Given the description of an element on the screen output the (x, y) to click on. 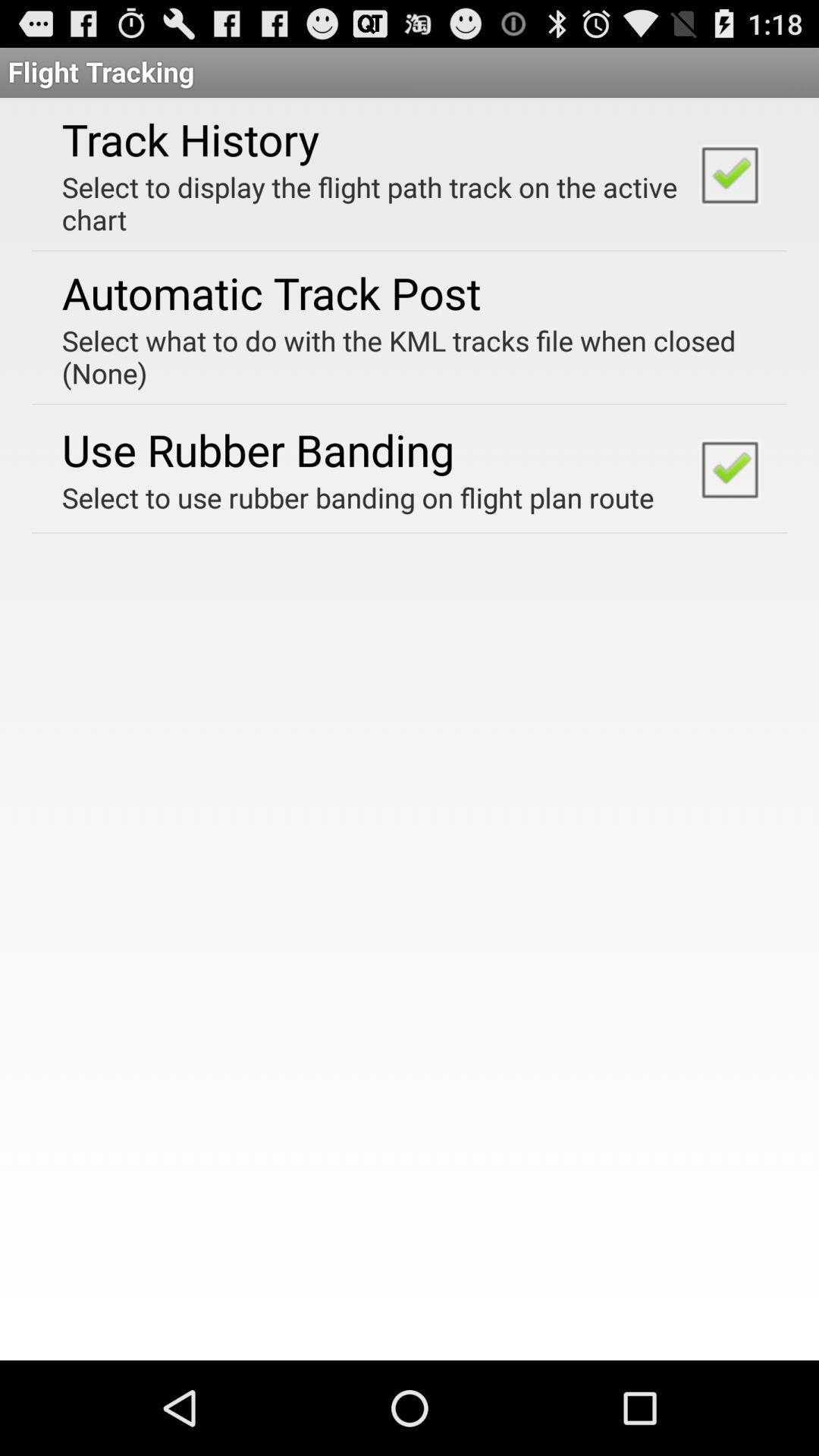
launch the app below the flight tracking icon (190, 138)
